Given the description of an element on the screen output the (x, y) to click on. 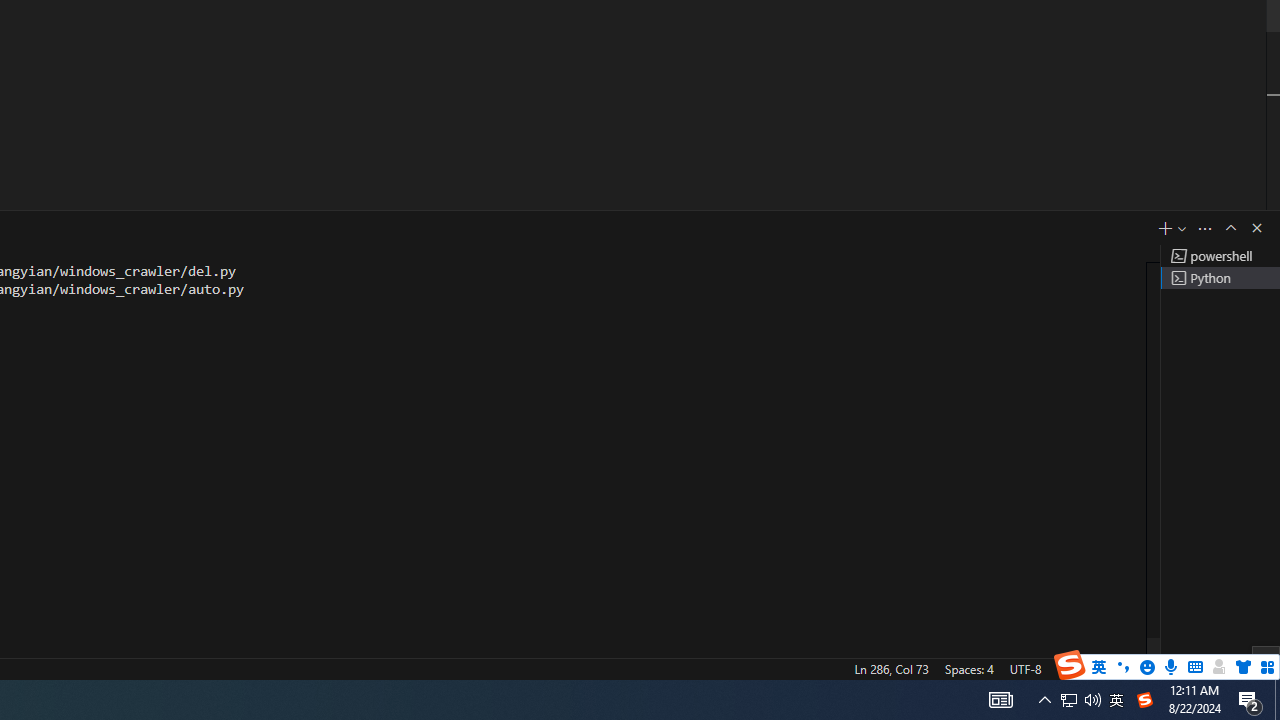
Spaces: 4 (968, 668)
